Given the description of an element on the screen output the (x, y) to click on. 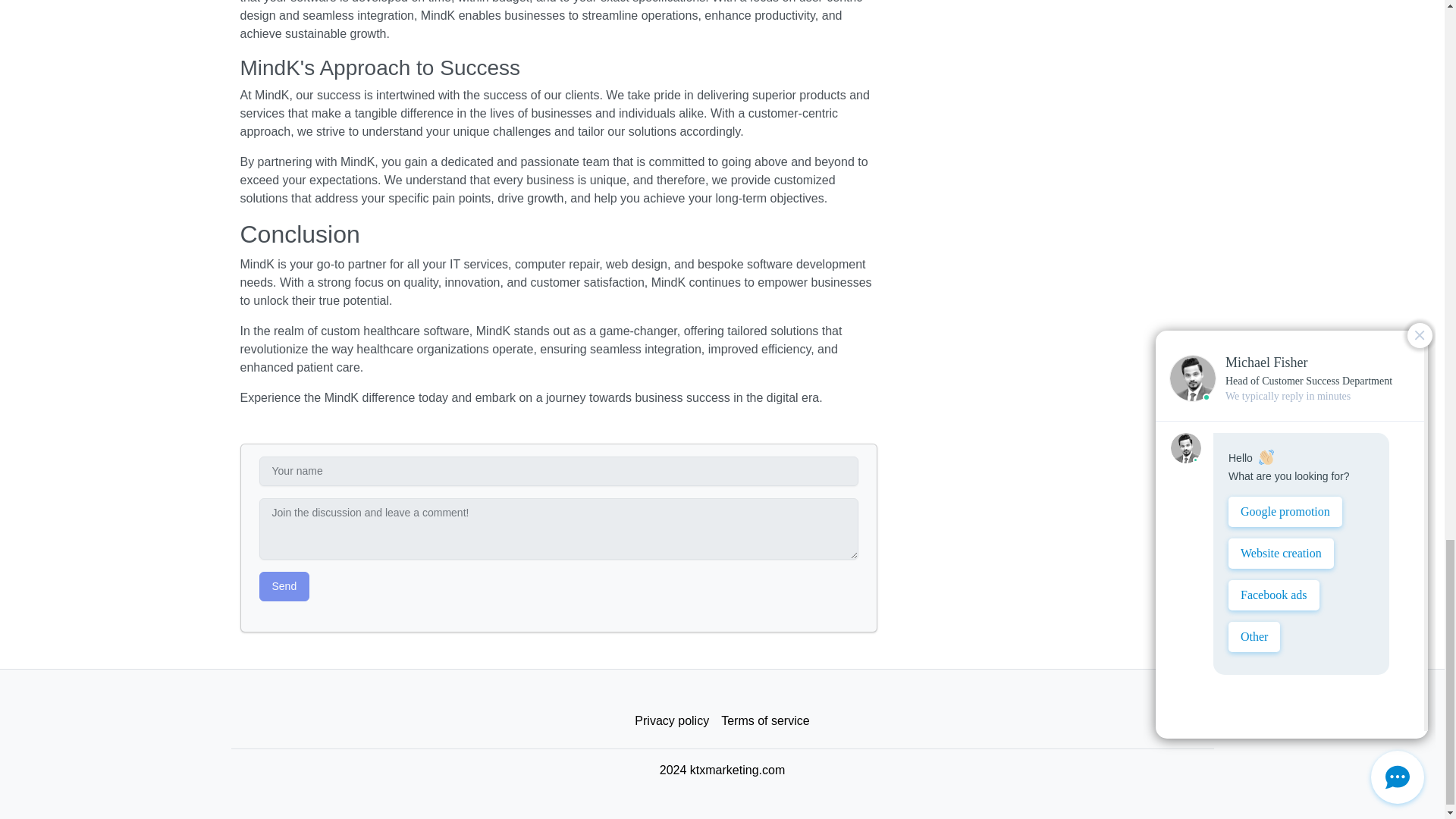
Send (284, 586)
Send (284, 586)
